Given the description of an element on the screen output the (x, y) to click on. 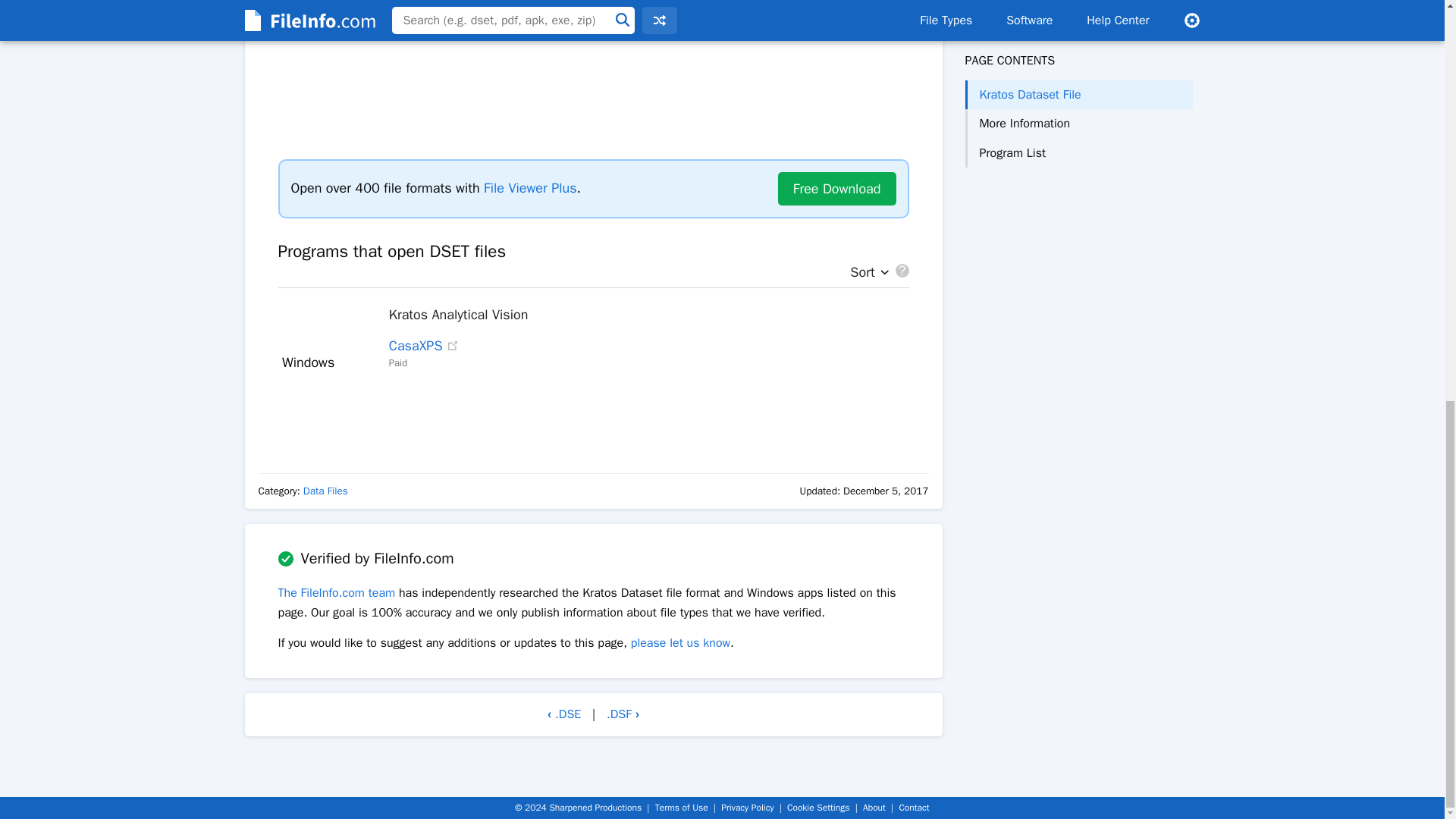
Data Files (324, 490)
Privacy Policy (746, 807)
About (874, 807)
Sort (865, 273)
Cookie Settings (817, 807)
CasaXPS (415, 345)
The FileInfo.com team (336, 592)
please let us know (680, 642)
Terms of Use (681, 807)
